Given the description of an element on the screen output the (x, y) to click on. 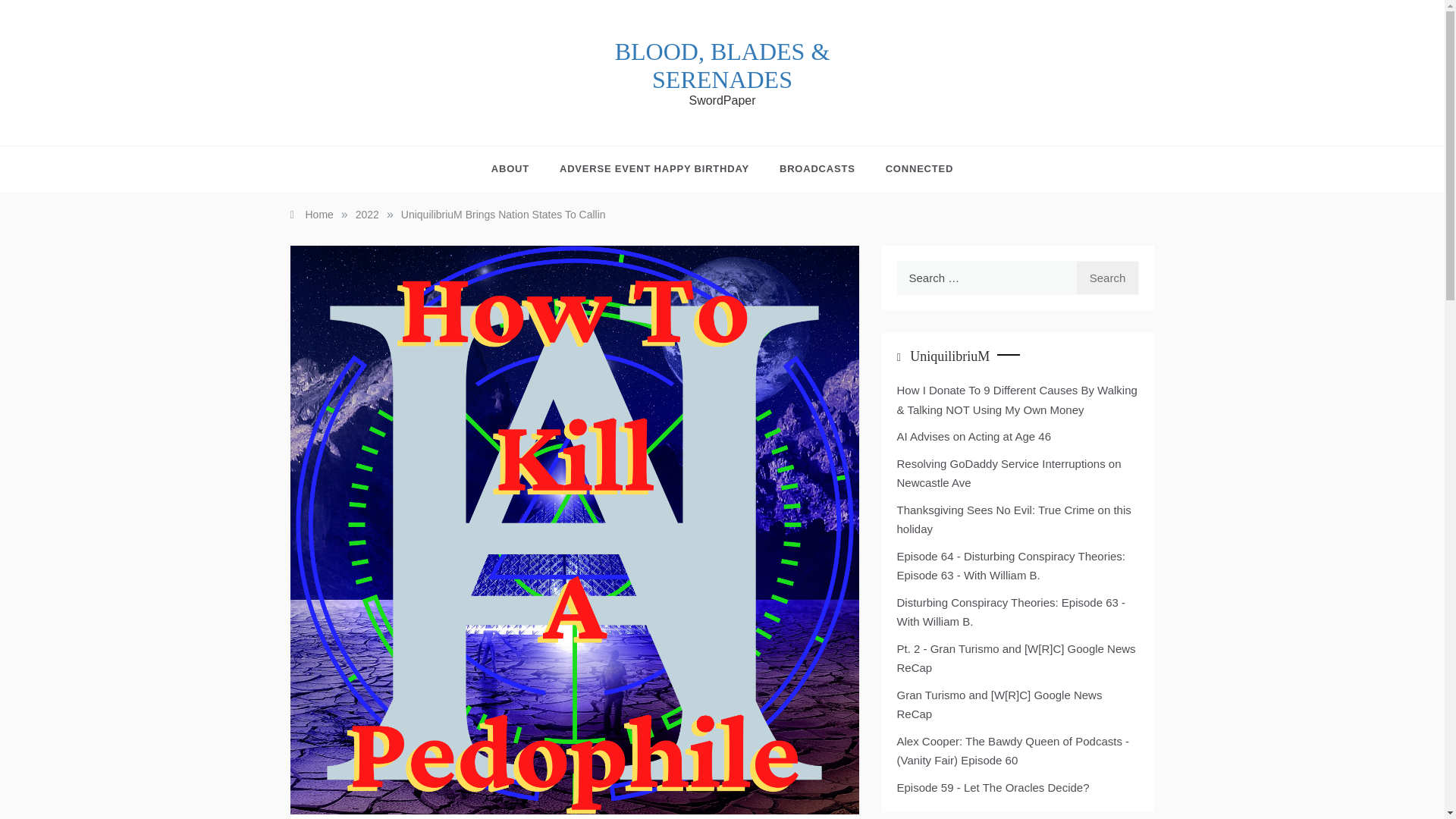
Search (1107, 277)
UniquilibriuM Brings Nation States To Callin (503, 214)
Search (1107, 277)
UniquilibriuM (950, 355)
BROADCASTS (817, 168)
Search (1107, 277)
2022 (366, 214)
ADVERSE EVENT HAPPY BIRTHDAY (654, 168)
Home (311, 214)
ABOUT (518, 168)
CONNECTED (911, 168)
